Given the description of an element on the screen output the (x, y) to click on. 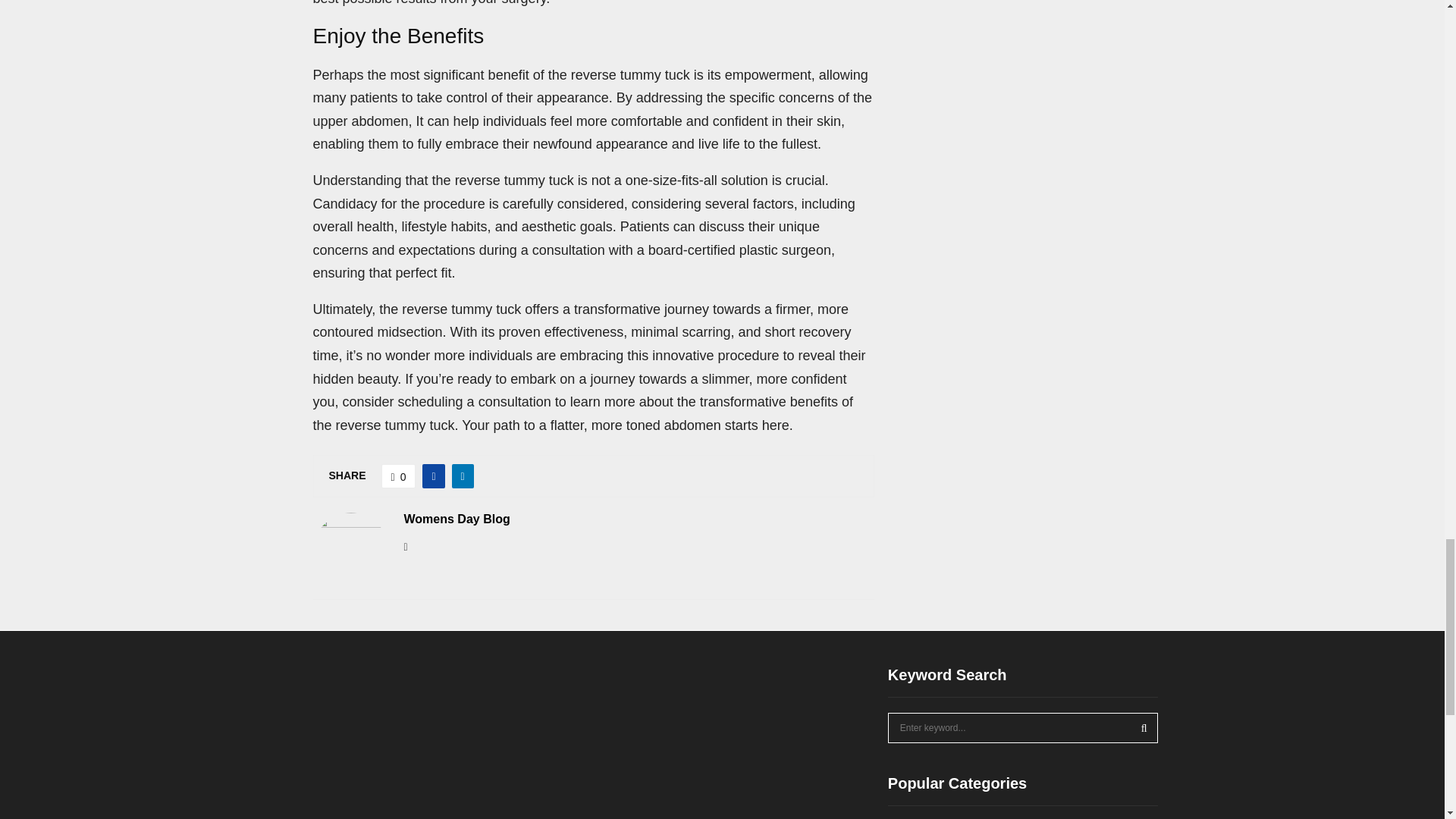
SEARCH (1143, 727)
Womens Day Blog (456, 519)
0 (398, 476)
Posts by Womens Day Blog (456, 519)
Like (398, 476)
